Given the description of an element on the screen output the (x, y) to click on. 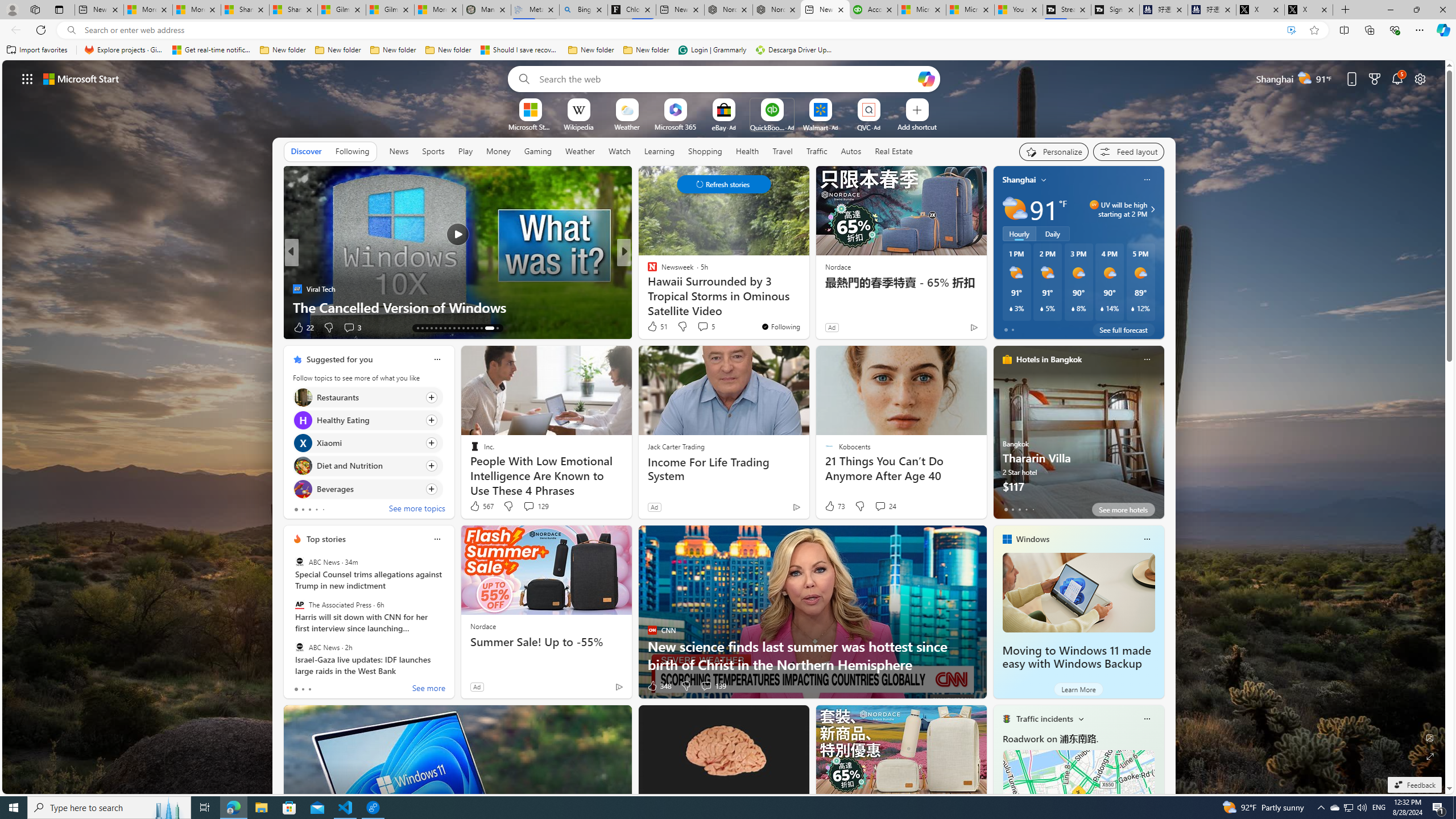
You're following Newsweek (780, 326)
Planning to Organize (647, 270)
Top stories (325, 538)
Diet and Nutrition (302, 466)
View comments 35 Comment (6, 327)
Class: icon-img (1146, 718)
